Given the description of an element on the screen output the (x, y) to click on. 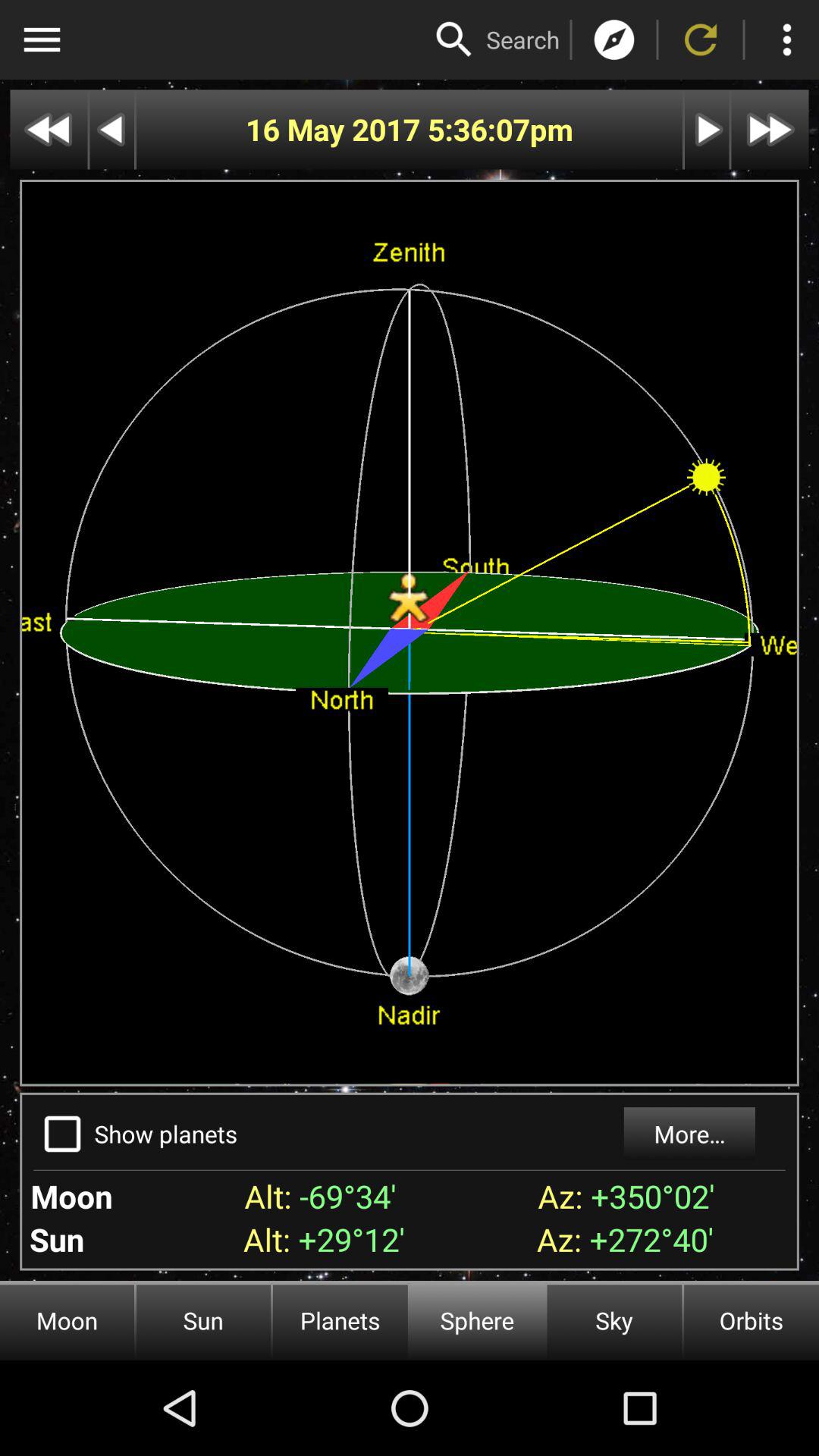
point north (614, 39)
